Given the description of an element on the screen output the (x, y) to click on. 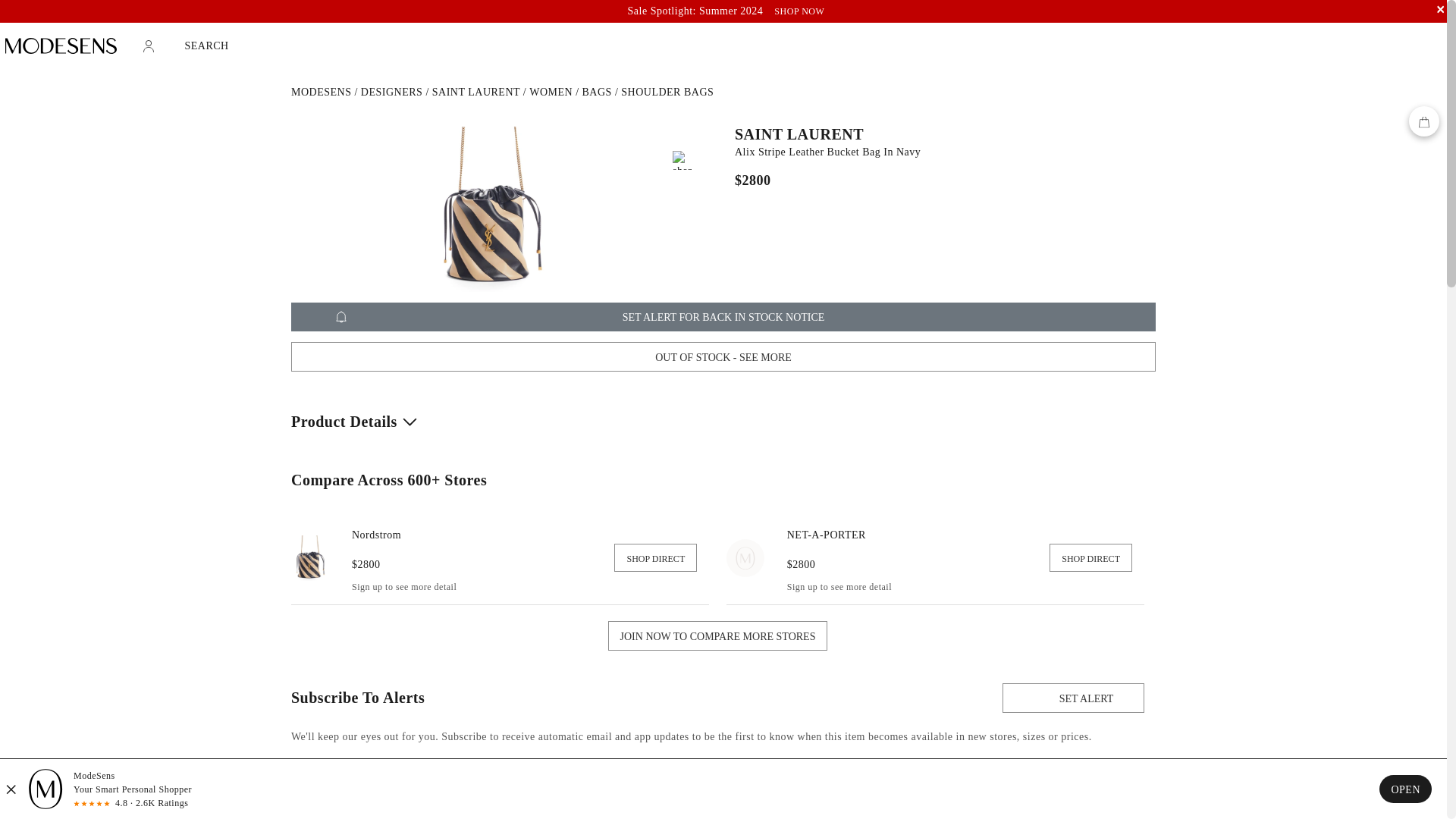
Saint Laurent Bags for Women (596, 91)
OPEN (1404, 788)
Add to shopping lists (681, 135)
Buy from store's website (826, 534)
Buy from store's website (376, 534)
SAINT LAURENT (939, 133)
Saint Laurent Women (550, 91)
Alix Stripe Leather Bucket Bag In Navy (939, 151)
Buy from store's website (655, 557)
Saint Laurent Shoulder Bags for Women (667, 91)
Designers (392, 91)
ModeSens (320, 91)
Saint Laurent (475, 91)
Buy from store's website (1090, 557)
Share with Friends (681, 159)
